Given the description of an element on the screen output the (x, y) to click on. 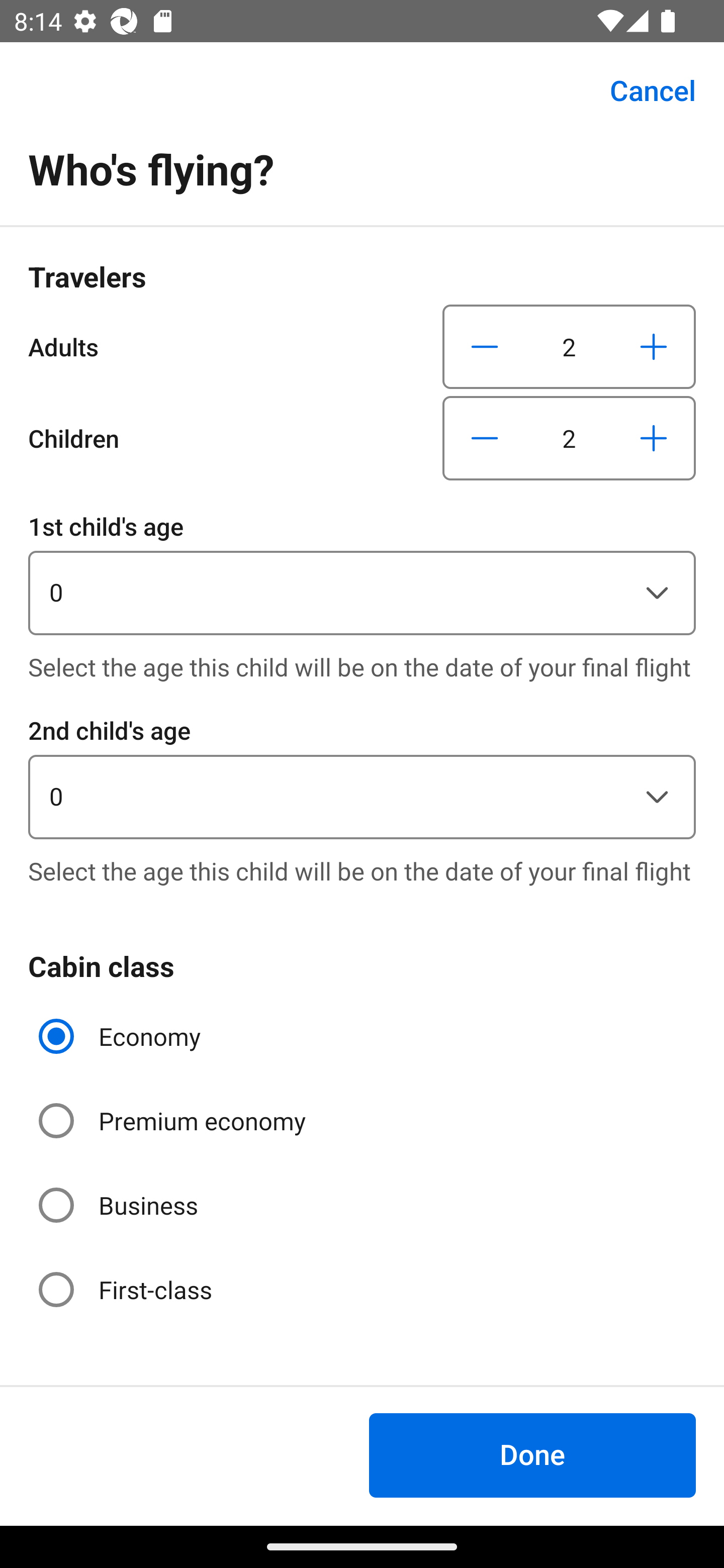
Cancel (641, 90)
Decrease (484, 346)
Increase (653, 346)
Decrease (484, 437)
Increase (653, 437)
1st child's age
 1st child's age 0 (361, 571)
2nd child's age
 2nd child's age 0 (361, 774)
Economy (121, 1036)
Premium economy (174, 1120)
Business (120, 1205)
First-class (126, 1289)
Done (532, 1454)
